Given the description of an element on the screen output the (x, y) to click on. 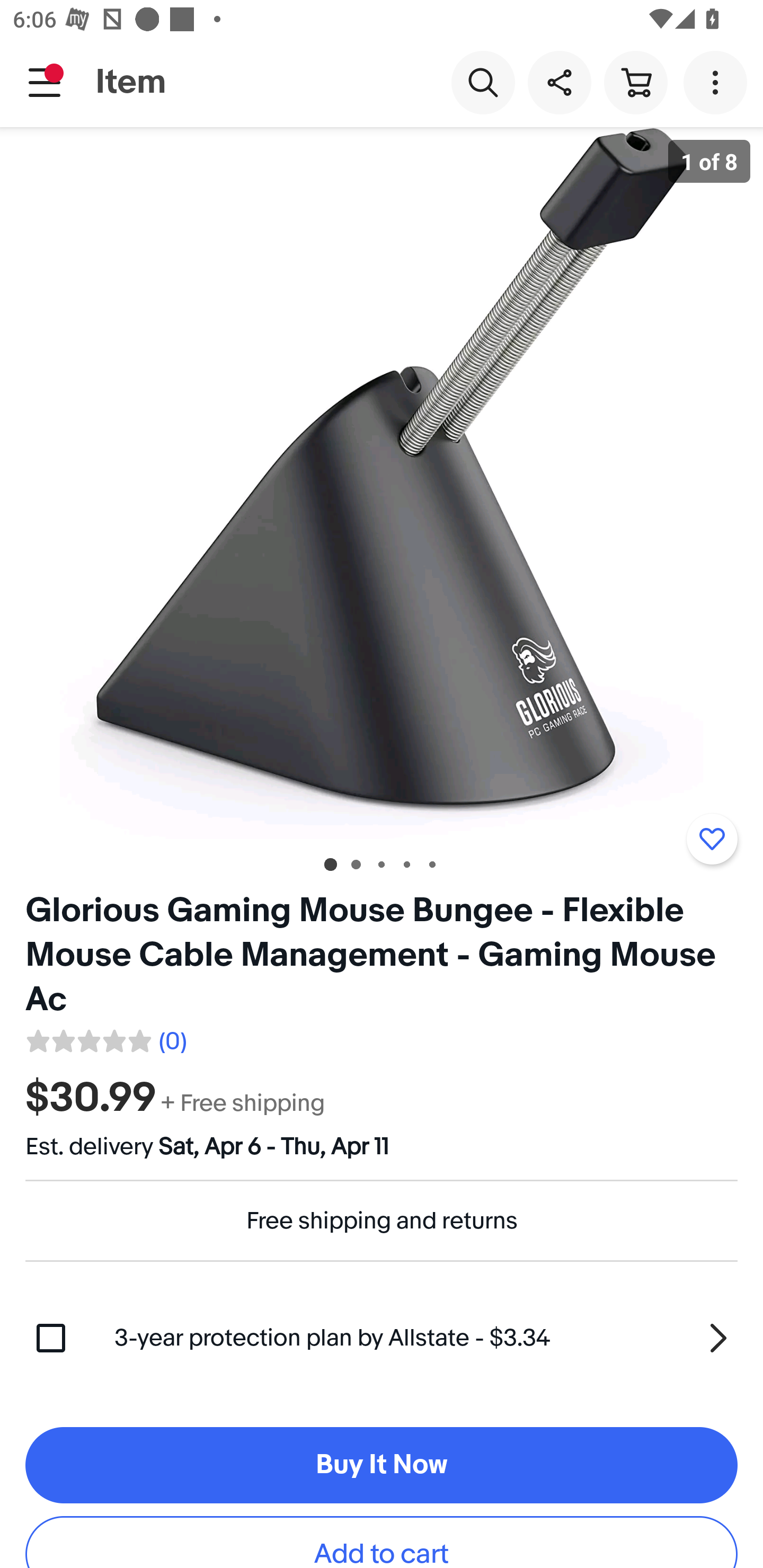
Main navigation, notification is pending, open (44, 82)
Search (482, 81)
Share this item (559, 81)
Cart button shopping cart (635, 81)
More options (718, 81)
Item image 1 of 8 (381, 482)
Add to watchlist (711, 838)
0 reviews. Average rating 0.0 out of five 0.0 (0) (105, 1037)
3-year protection plan by Allstate - $3.34 (425, 1337)
Buy It Now (381, 1464)
Add to cart (381, 1542)
